Given the description of an element on the screen output the (x, y) to click on. 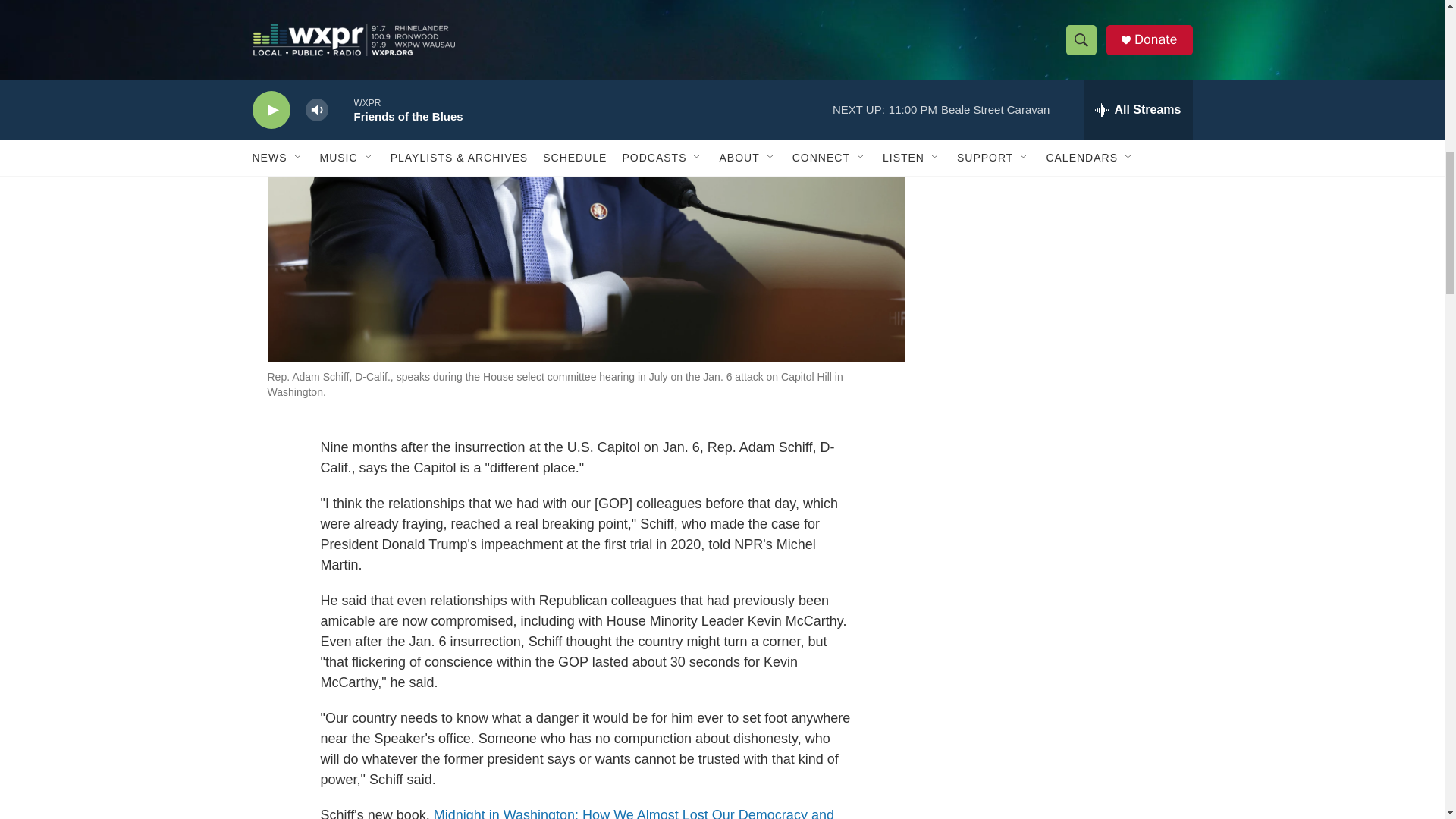
3rd party ad content (1062, 105)
